Given the description of an element on the screen output the (x, y) to click on. 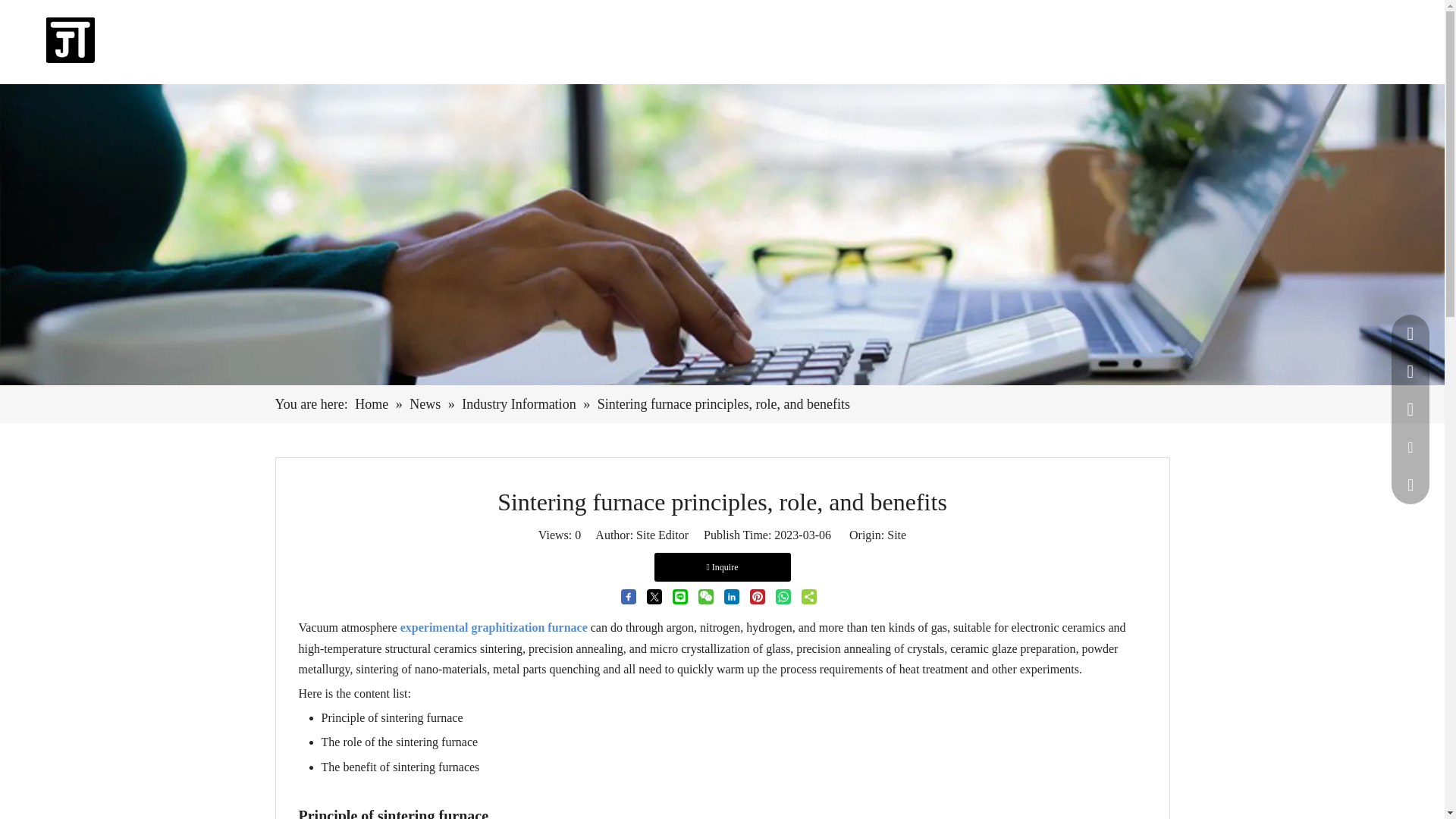
Sources (781, 41)
About Us (706, 41)
Contact Us (861, 41)
Inquire (721, 566)
experimental graphitization furnace (494, 626)
Solutions (628, 41)
Industry Information (520, 403)
Home (373, 403)
Home (485, 41)
News (426, 403)
